Given the description of an element on the screen output the (x, y) to click on. 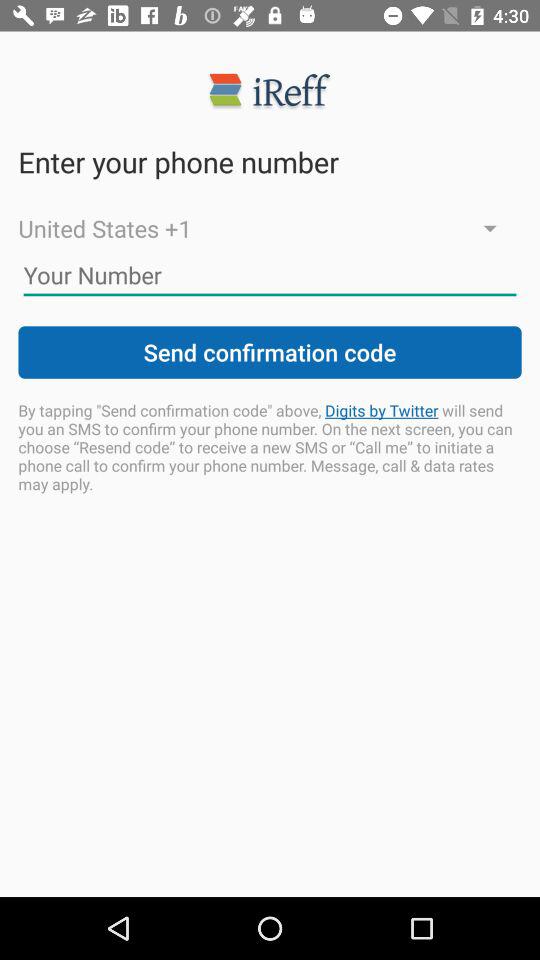
choose item below send confirmation code icon (269, 446)
